Given the description of an element on the screen output the (x, y) to click on. 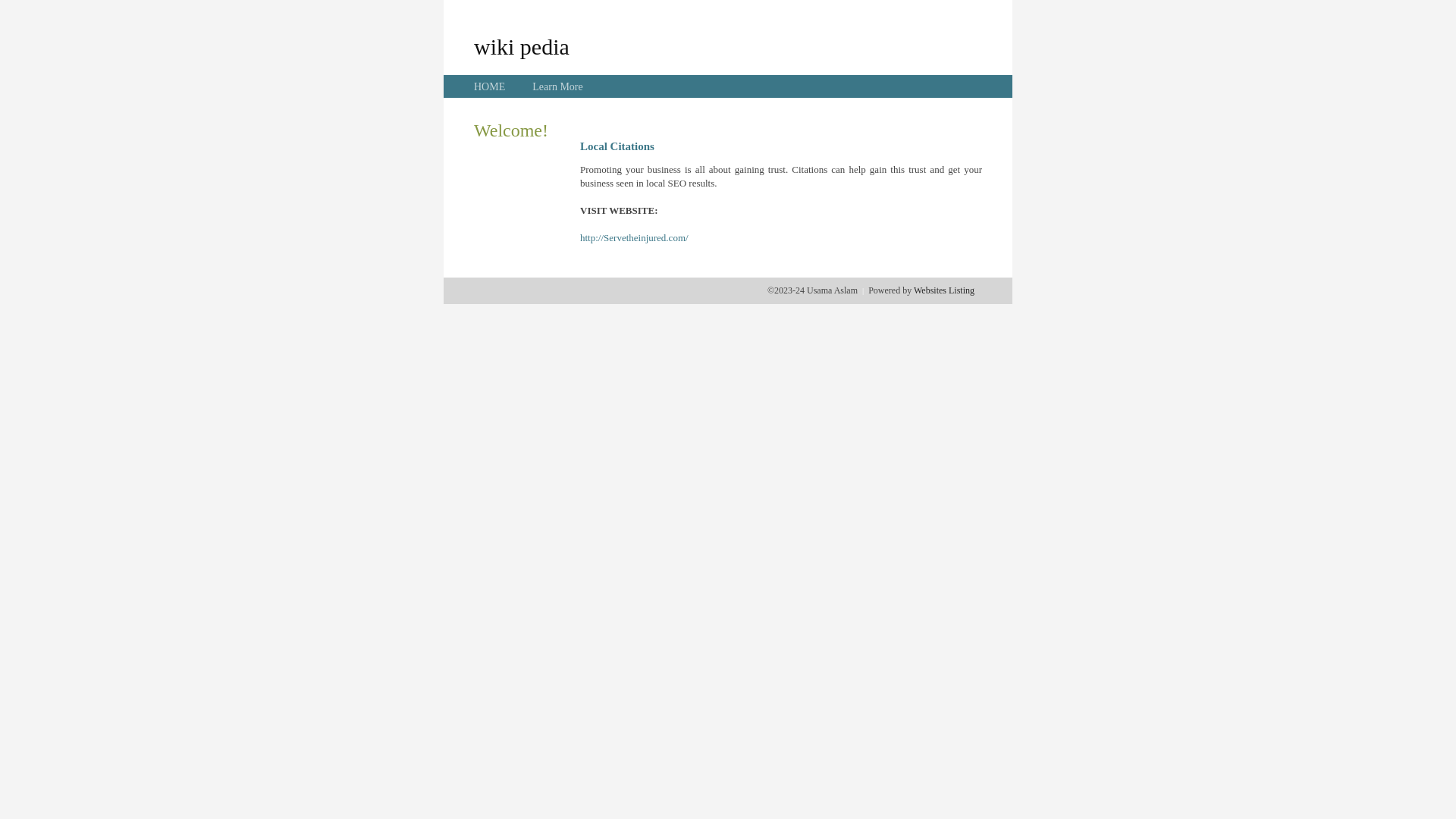
wiki pedia Element type: text (521, 46)
HOME Element type: text (489, 86)
http://Servetheinjured.com/ Element type: text (634, 237)
Learn More Element type: text (557, 86)
Websites Listing Element type: text (943, 290)
